Given the description of an element on the screen output the (x, y) to click on. 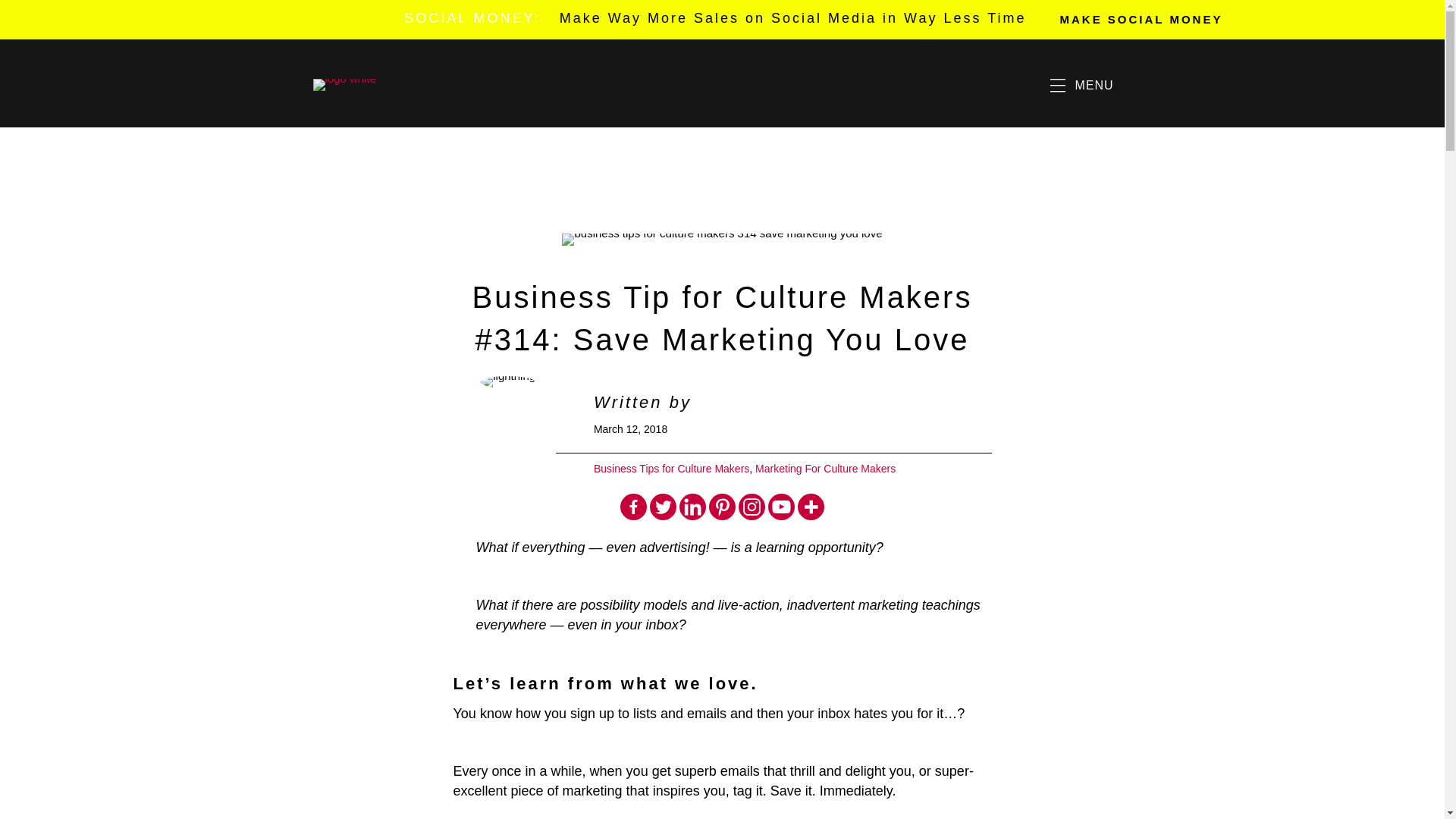
Facebook (633, 506)
MENU (1081, 85)
logo white (344, 84)
Marketing For Culture Makers (825, 468)
Twitter (663, 506)
Business Tips for Culture Makers (671, 468)
business tips for culture makers 314 save marketing you love (722, 239)
Instagram (751, 506)
Linkedin (692, 506)
MAKE SOCIAL MONEY (1140, 19)
Pinterest (722, 506)
lightning (507, 381)
Written by Kelly Diels (698, 402)
Youtube (781, 506)
